Given the description of an element on the screen output the (x, y) to click on. 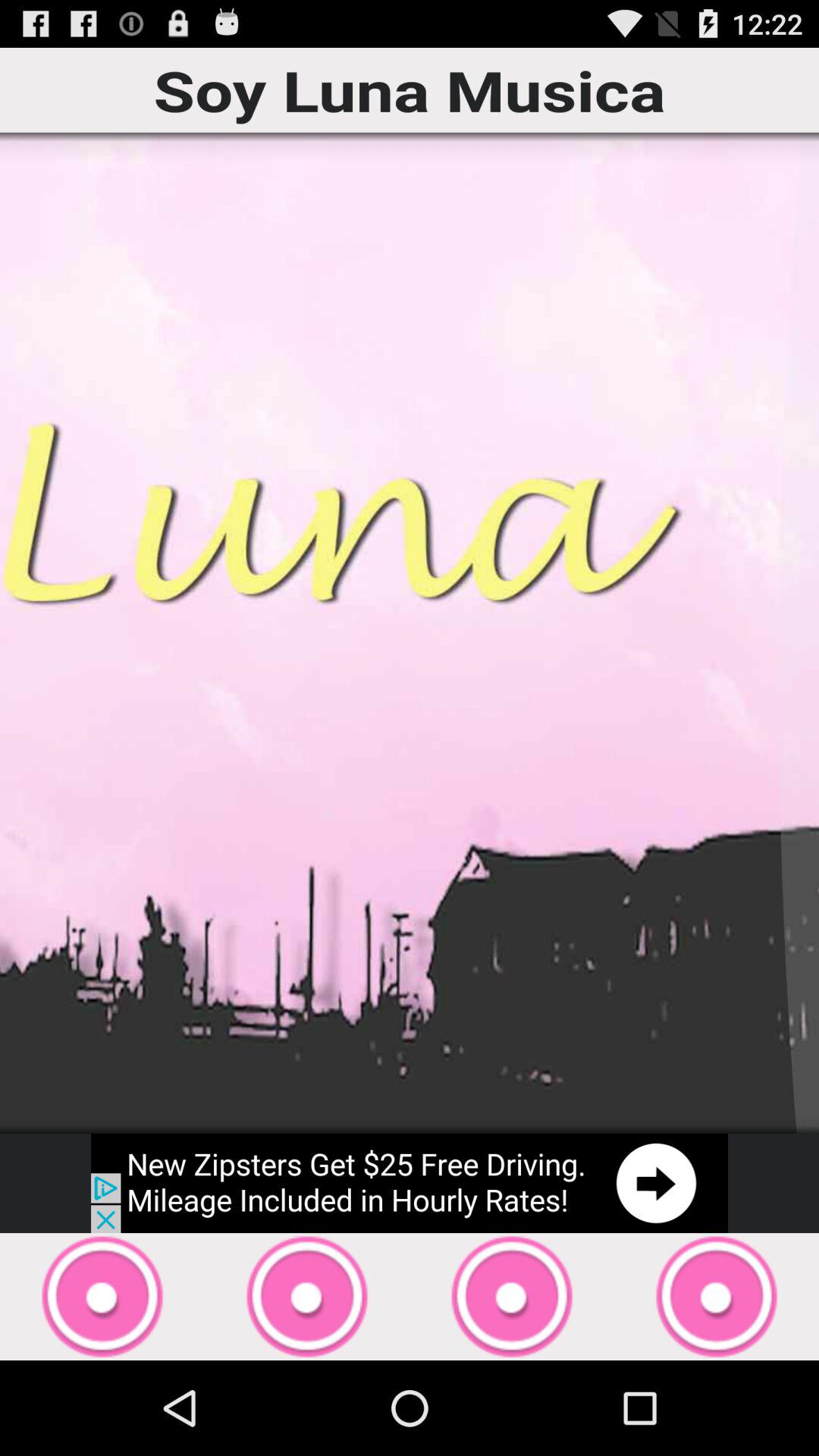
click advertisement (409, 1183)
